Given the description of an element on the screen output the (x, y) to click on. 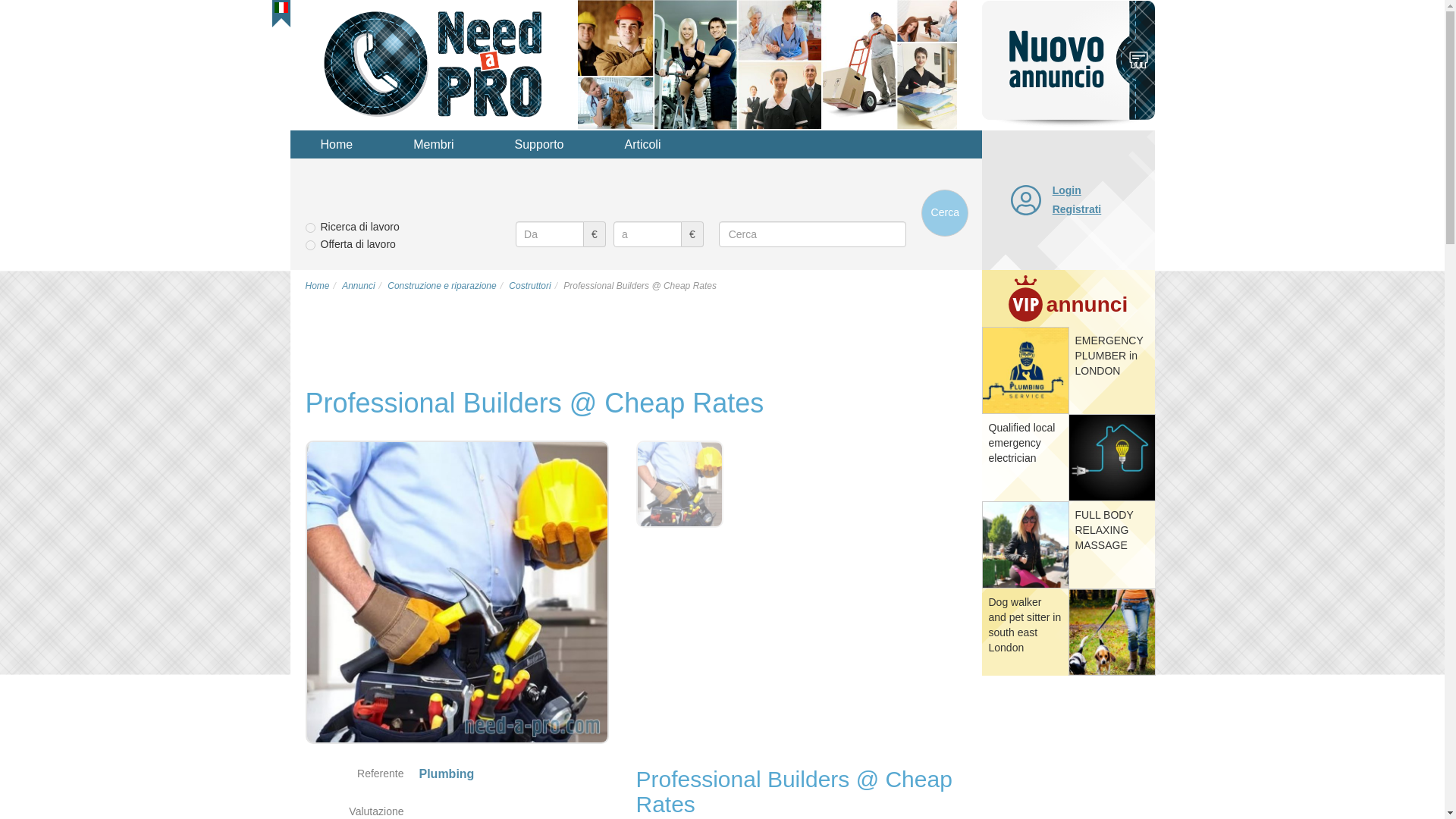
Home (335, 144)
EMERGENCY PLUMBER in LONDON (1108, 355)
Annunci (358, 285)
Prezzo Minimo (549, 234)
Membri (432, 144)
Advertisement (1066, 752)
1 (309, 227)
FULL BODY RELAXING MASSAGE (1104, 529)
Cerca (944, 212)
Login (1099, 189)
Dog walker and pet sitter in south east London (1024, 624)
Home (316, 285)
Pubblica nuovo annuncio (1067, 64)
Supporto (539, 144)
Registrati (1099, 209)
